Given the description of an element on the screen output the (x, y) to click on. 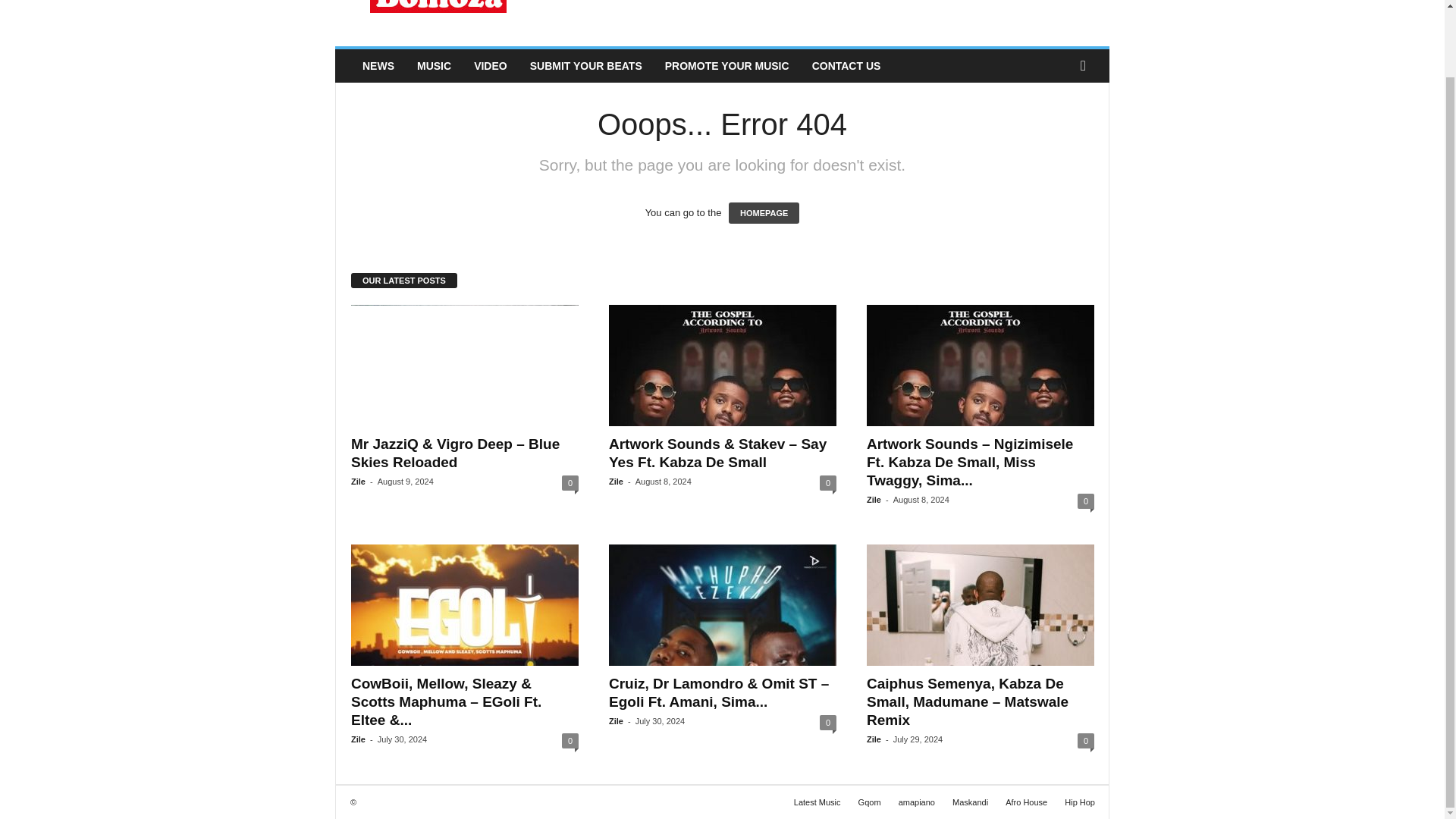
CONTACT US (846, 65)
Bomoza (437, 20)
0 (1085, 500)
0 (570, 482)
HOMEPAGE (764, 212)
SUBMIT YOUR BEATS (585, 65)
Zile (615, 481)
PROMOTE YOUR MUSIC (726, 65)
Zile (873, 499)
0 (827, 482)
